Given the description of an element on the screen output the (x, y) to click on. 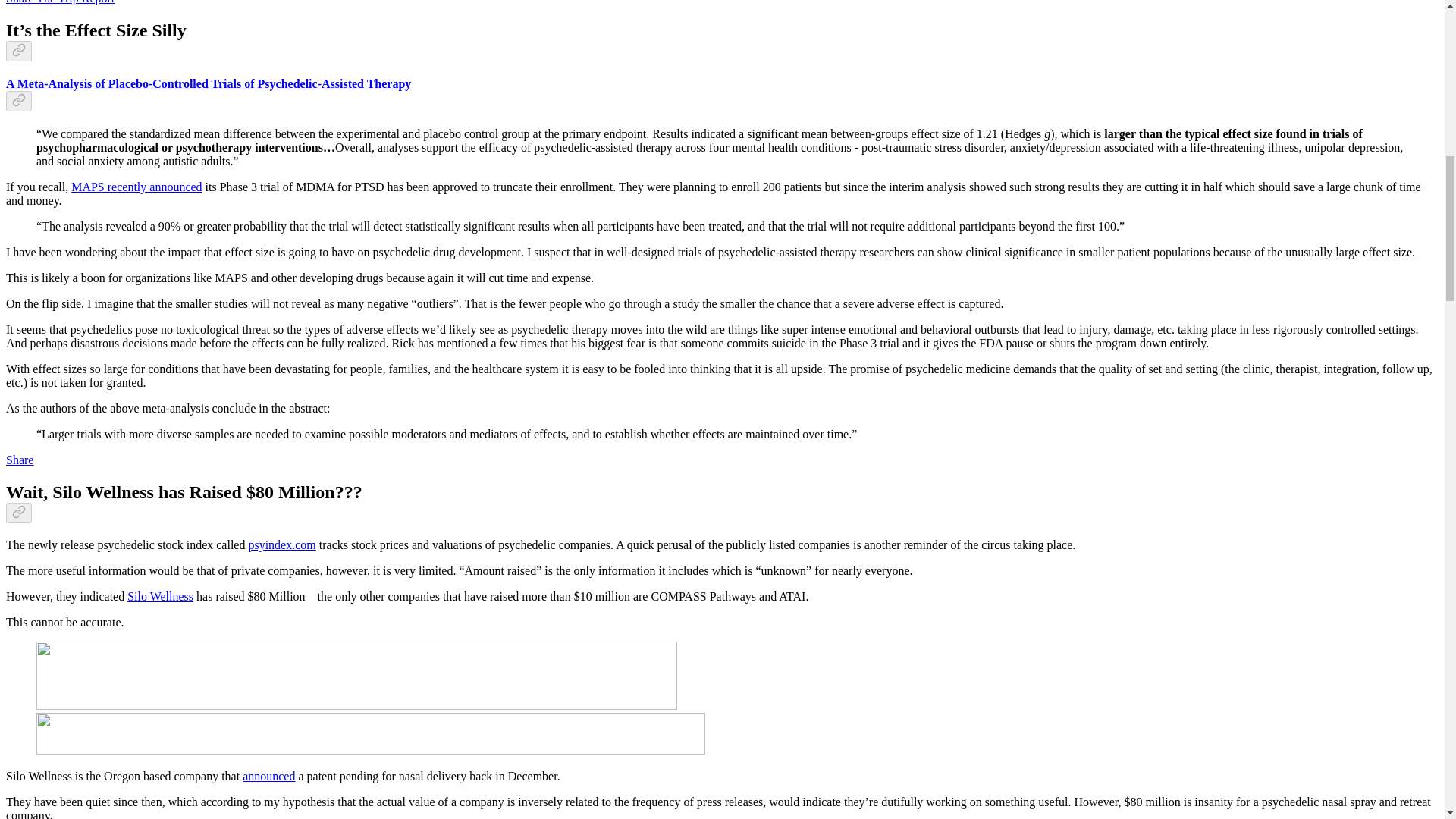
Share The Trip Report (60, 2)
announced (269, 775)
psyindex.com (281, 544)
MAPS recently announced (136, 186)
Share (19, 459)
Silo Wellness (160, 595)
